Given the description of an element on the screen output the (x, y) to click on. 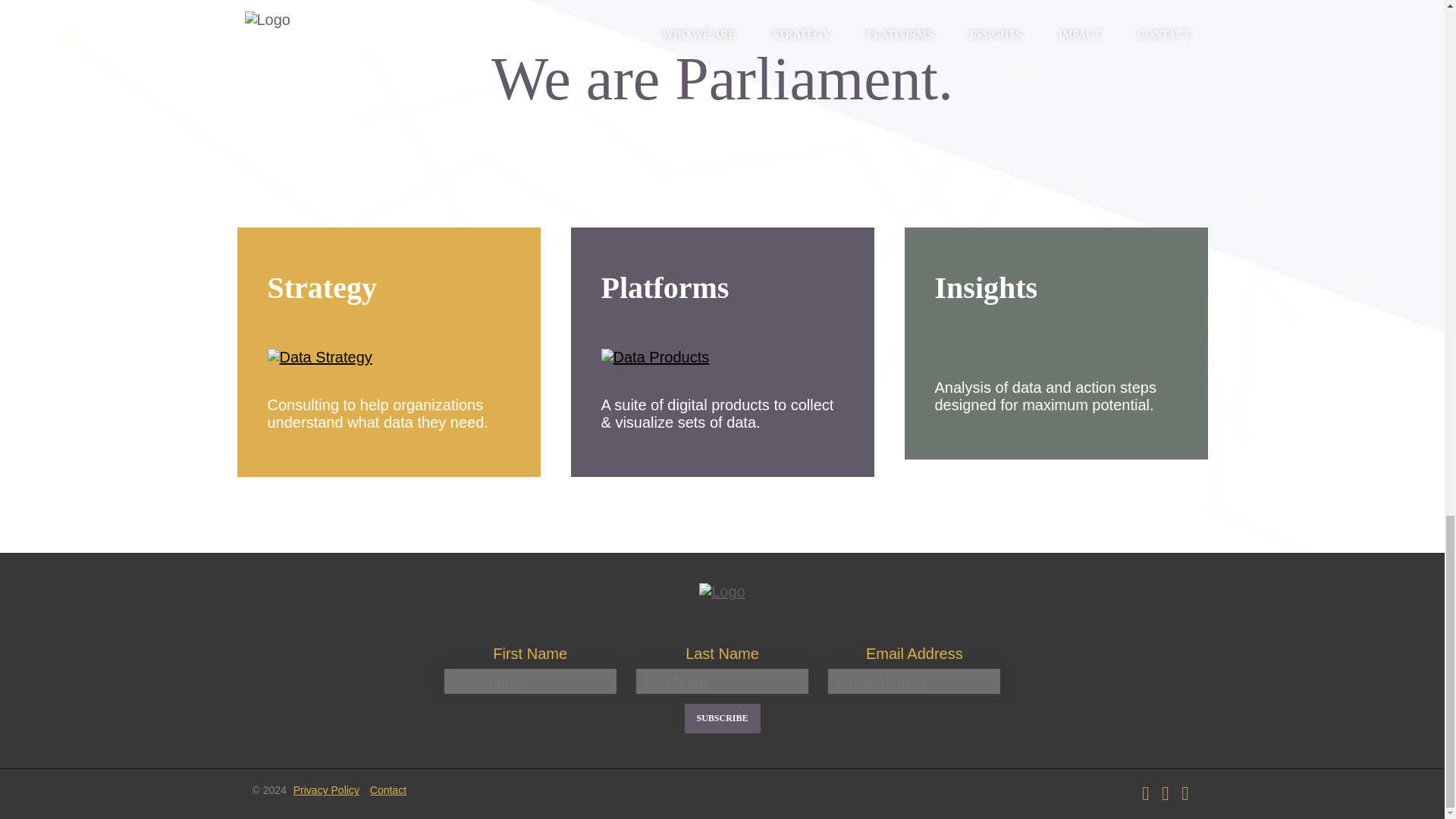
Platforms (721, 357)
Contact (388, 789)
Strategy (387, 357)
SUBSCRIBE (722, 718)
Privacy Policy (325, 789)
